Given the description of an element on the screen output the (x, y) to click on. 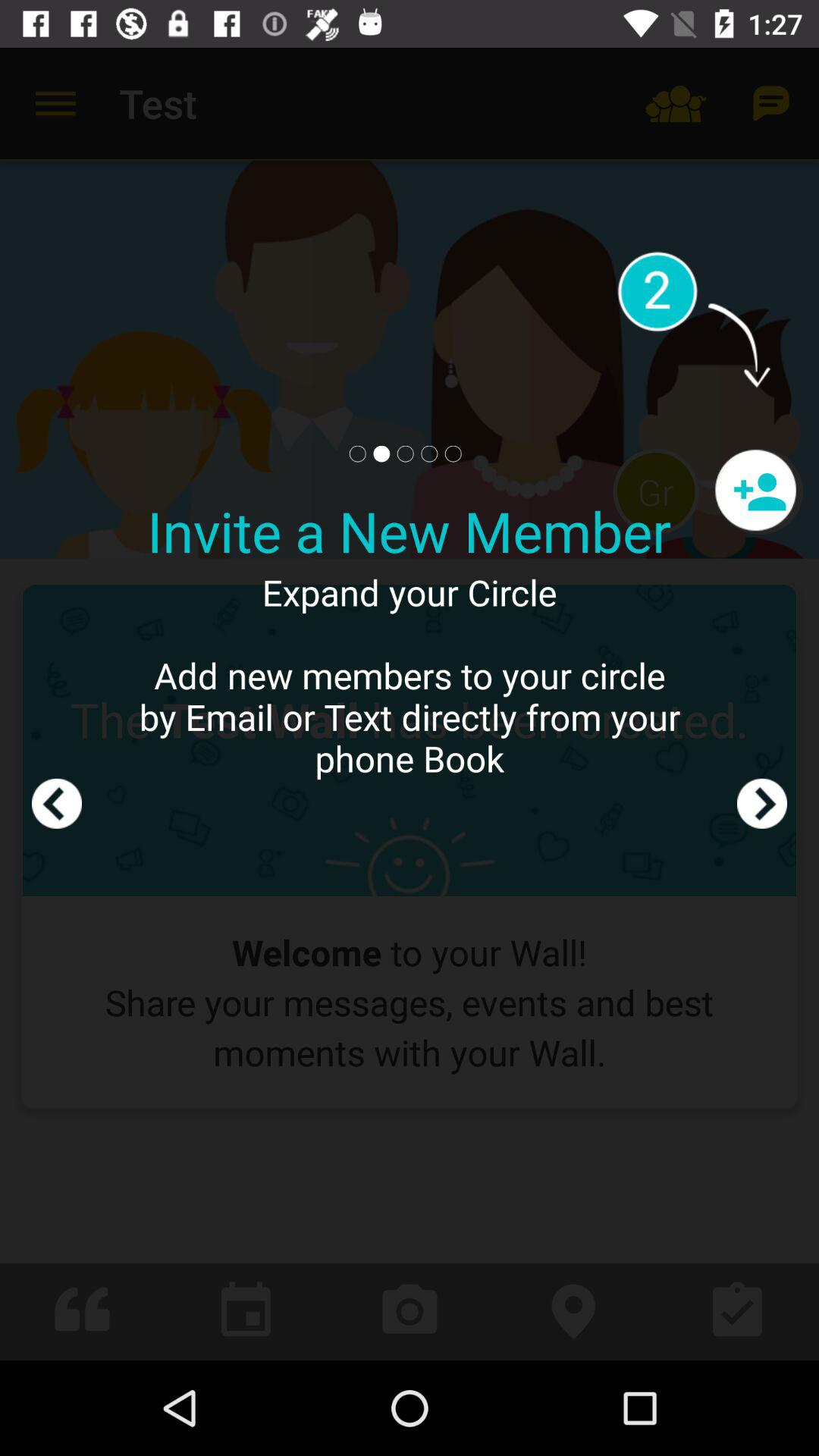
go to next instruction (762, 703)
